Given the description of an element on the screen output the (x, y) to click on. 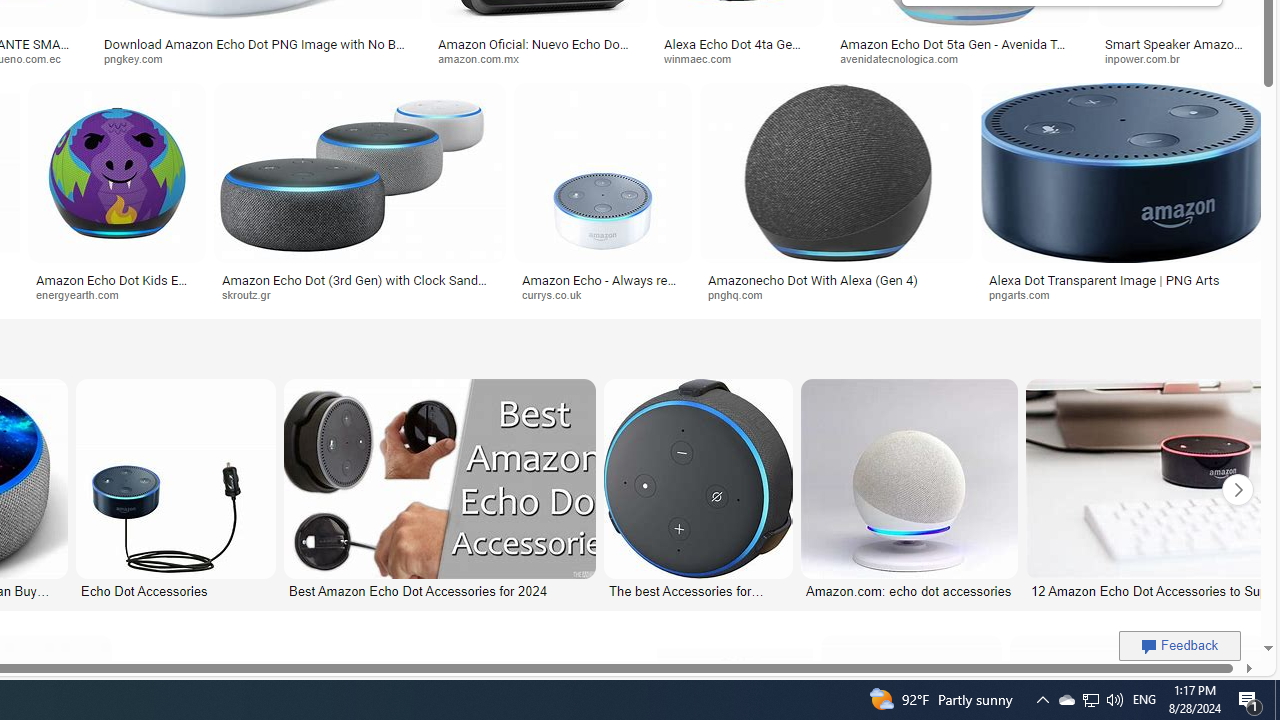
Click to scroll right (1238, 489)
Alexa Dot Transparent Image | PNG Arts (1104, 279)
Amazonecho Dot With Alexa (Gen 4)pnghq.comSave (840, 196)
Alexa Dot Transparent Image | PNG Artspngarts.comSave (1122, 196)
pnghq.com (836, 295)
avenidatecnologica.com (905, 57)
winmaec.com (740, 58)
Echo Dot Accessories Echo Dot Accessories (175, 489)
amazon.com.mx (484, 57)
